Given the description of an element on the screen output the (x, y) to click on. 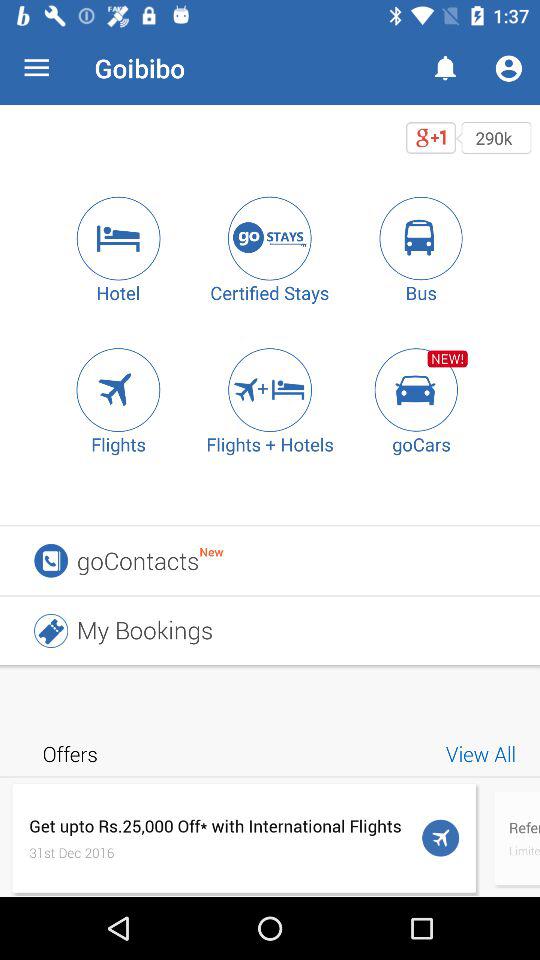
go stays icon (269, 238)
